Given the description of an element on the screen output the (x, y) to click on. 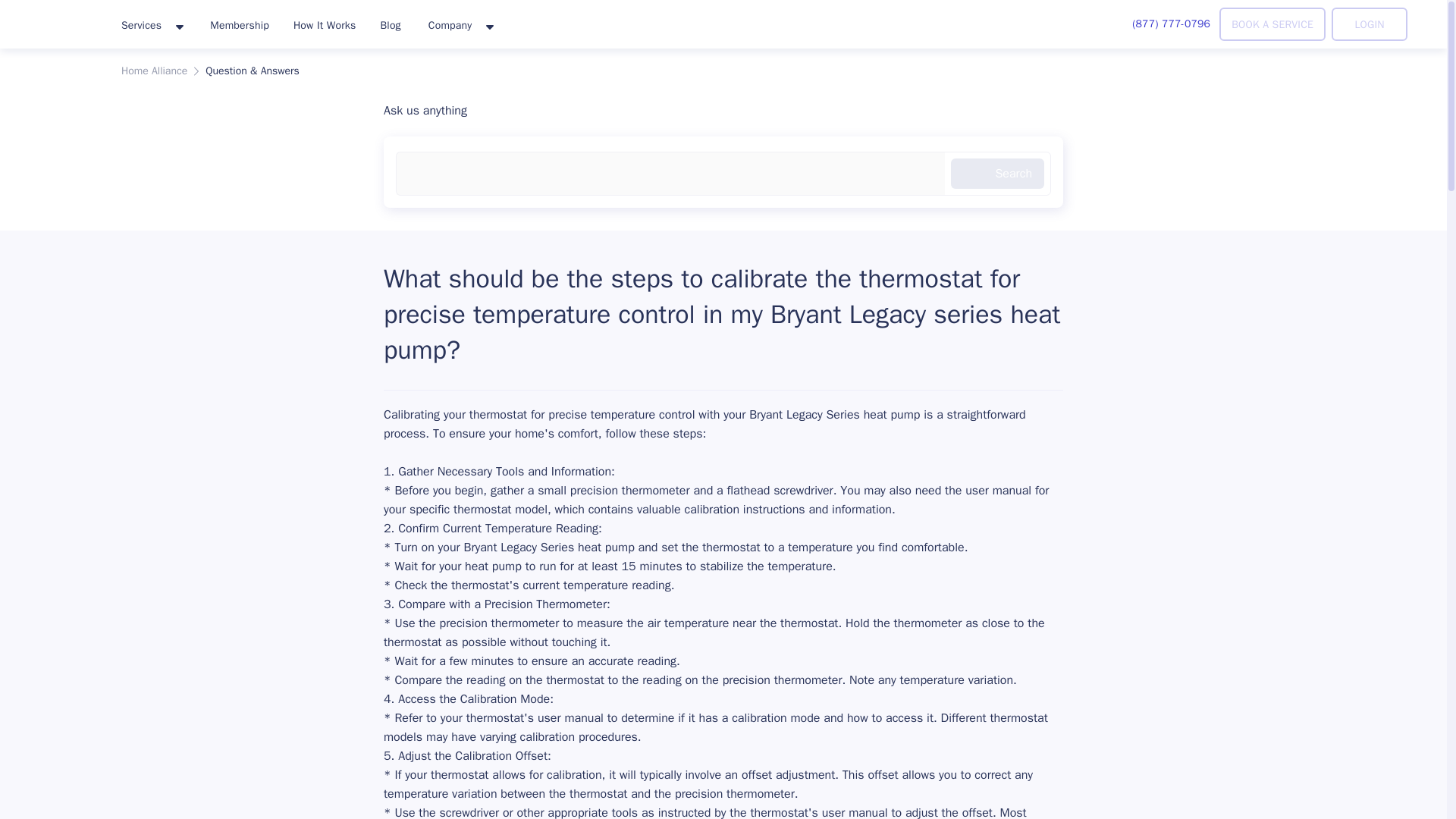
HomeAlliance (55, 20)
How It Works (324, 24)
Membership (239, 24)
Company (460, 25)
Search (996, 173)
LOGIN (1369, 23)
Home Alliance (153, 70)
BOOK A SERVICE (1272, 23)
Services (151, 25)
